Given the description of an element on the screen output the (x, y) to click on. 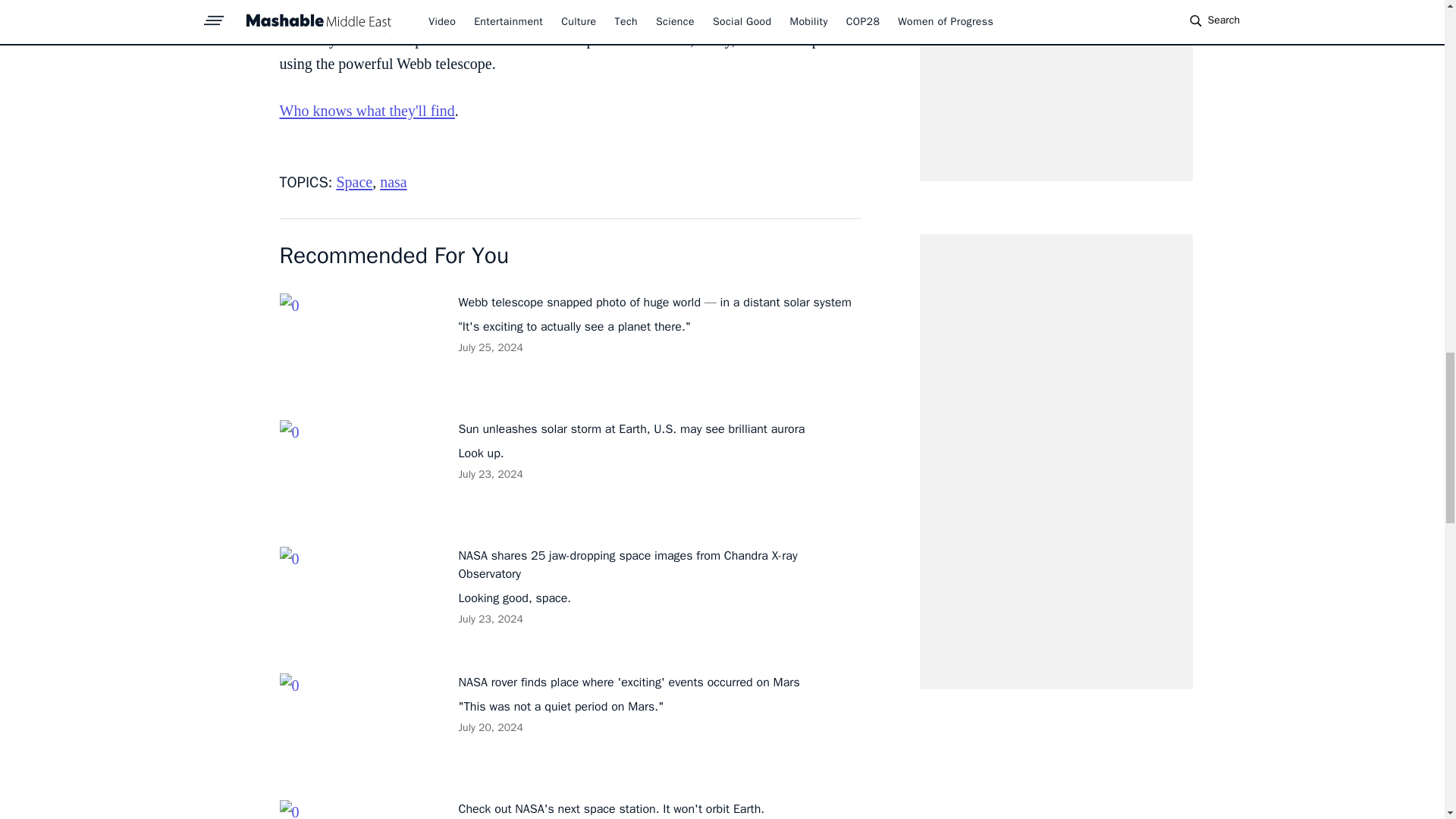
nasa (393, 181)
Space (354, 181)
Who knows what they'll find (366, 110)
